Given the description of an element on the screen output the (x, y) to click on. 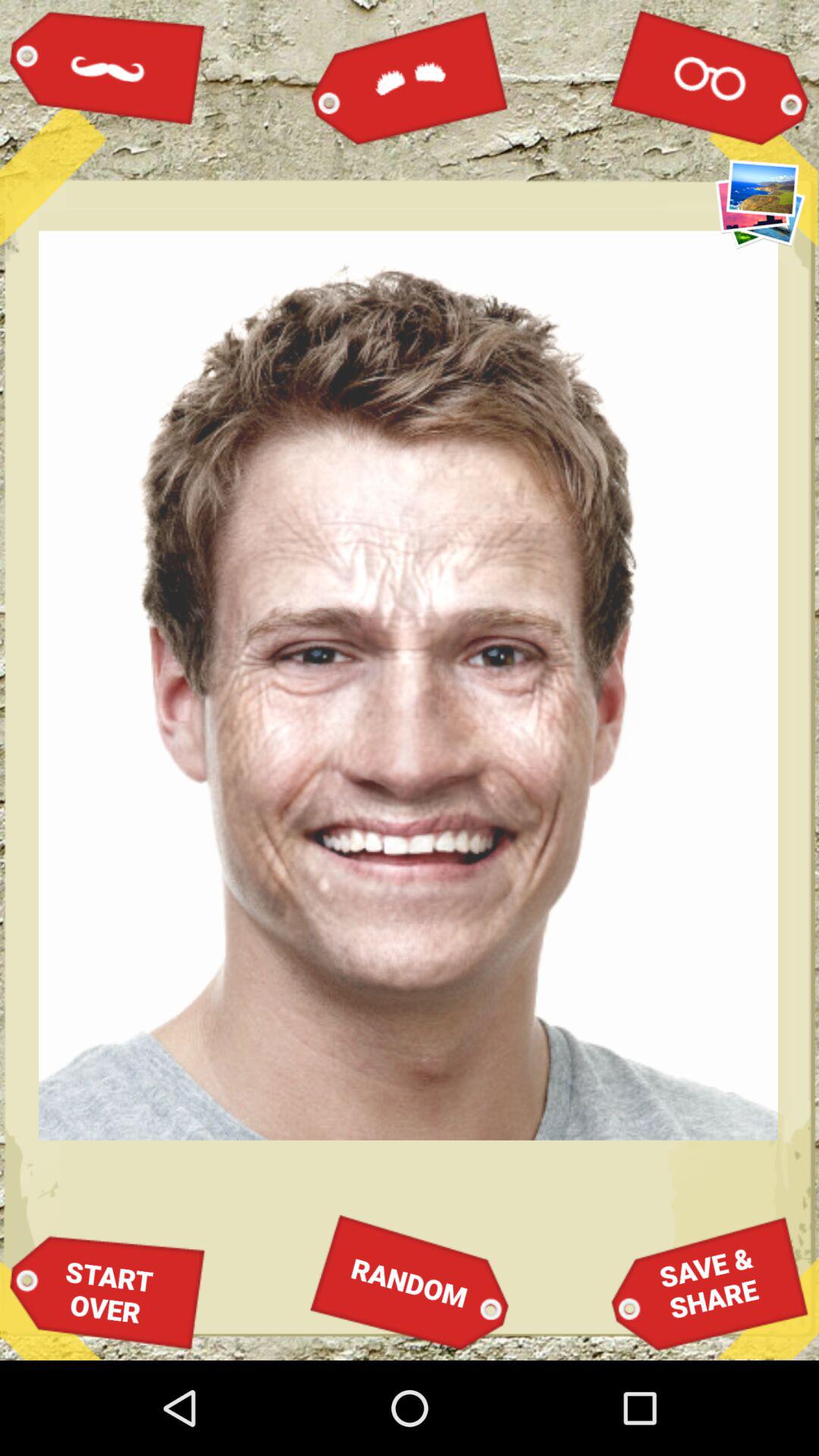
jump to start
over (107, 1292)
